Given the description of an element on the screen output the (x, y) to click on. 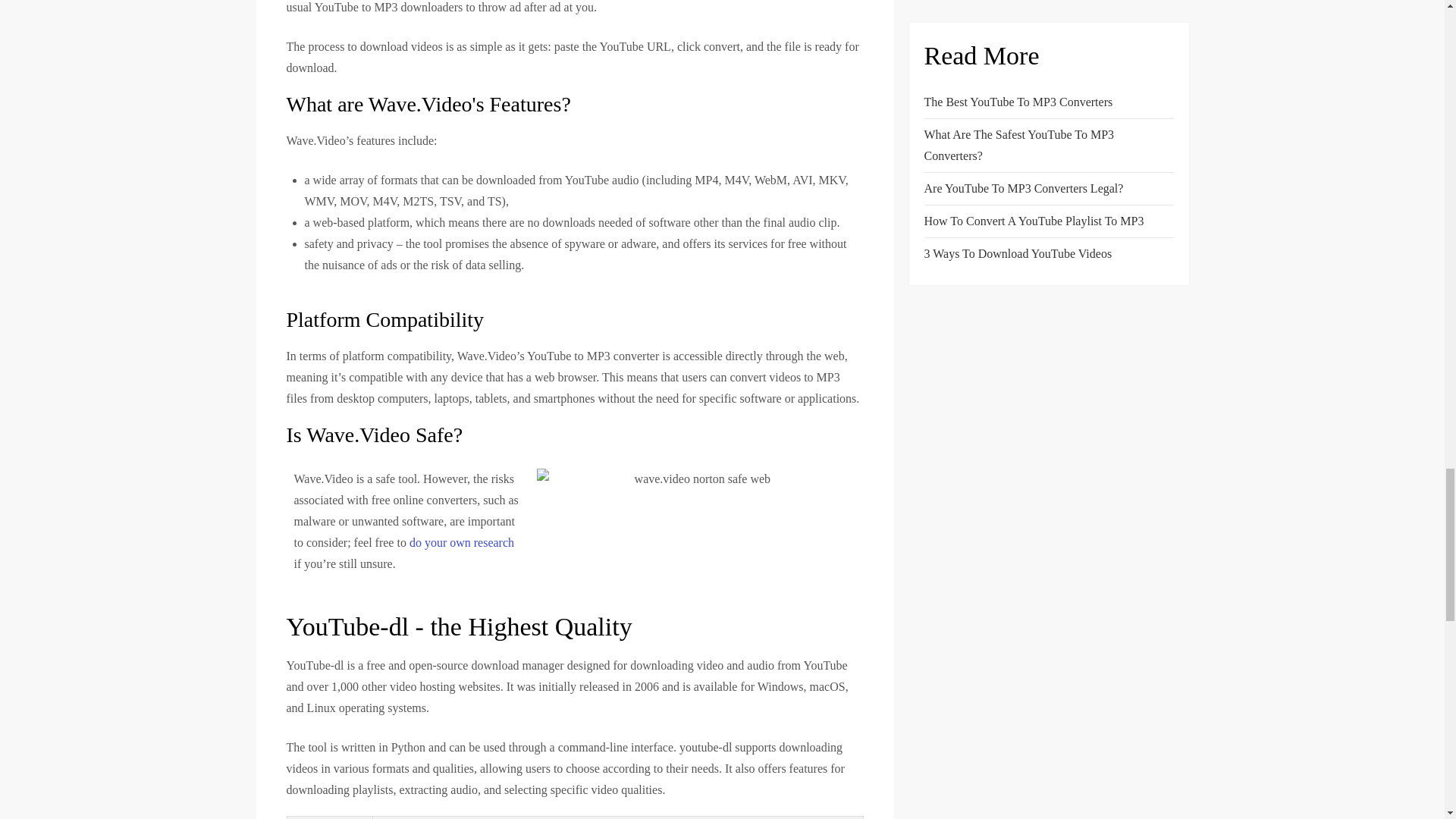
do your own research (461, 542)
